Given the description of an element on the screen output the (x, y) to click on. 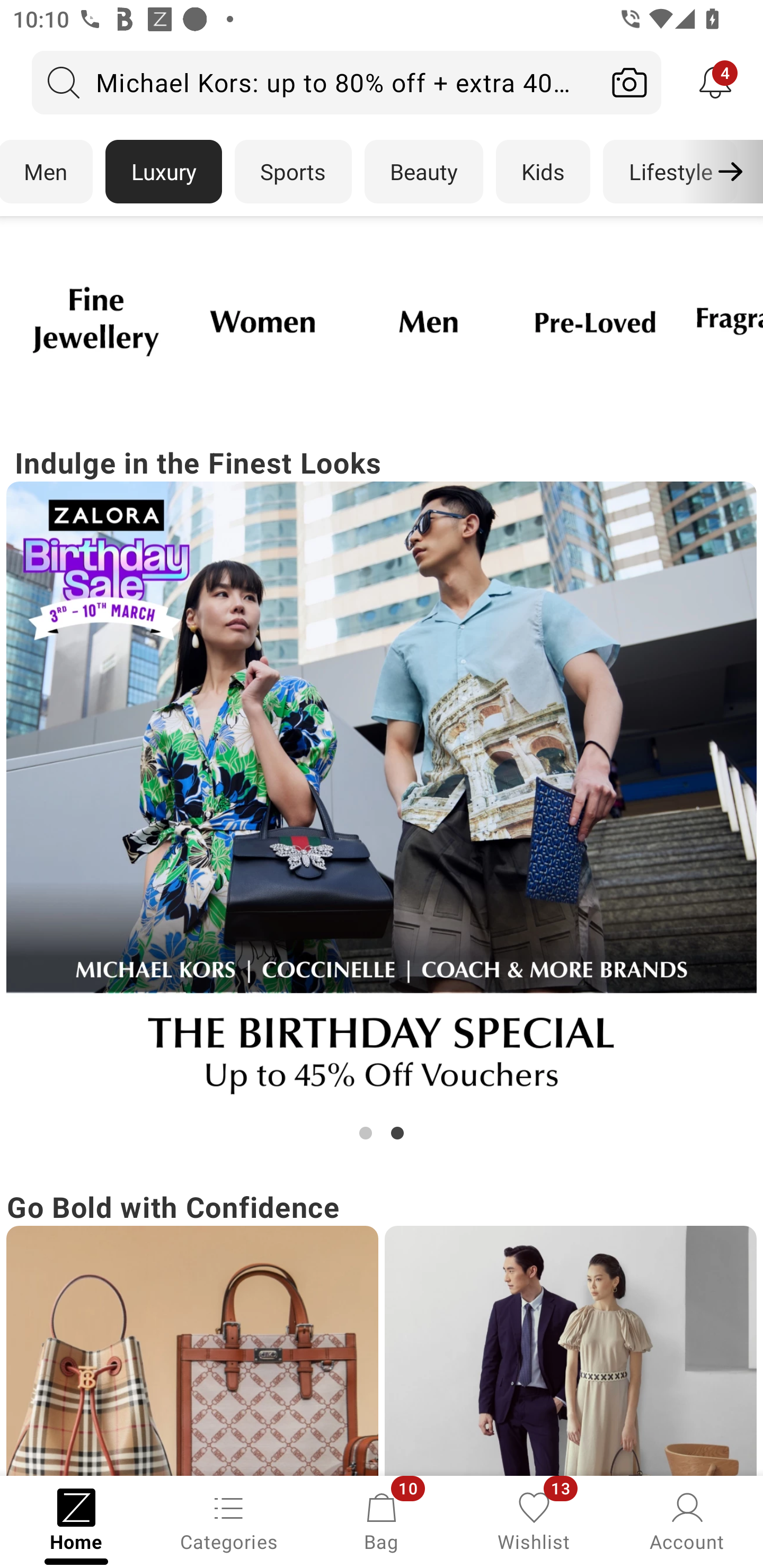
Michael Kors: up to 80% off + extra 40% off (314, 82)
Men (46, 171)
Luxury (163, 171)
Sports (293, 171)
Beauty (423, 171)
Kids (542, 171)
Lifestyle (669, 171)
Campaign banner (95, 321)
Campaign banner (261, 321)
Campaign banner (428, 321)
Campaign banner (594, 321)
 Indulge in the Finest Looks Campaign banner (381, 792)
Campaign banner (381, 797)
Campaign banner (192, 1350)
Campaign banner (570, 1350)
Categories (228, 1519)
Bag, 10 new notifications Bag (381, 1519)
Wishlist, 13 new notifications Wishlist (533, 1519)
Account (686, 1519)
